Given the description of an element on the screen output the (x, y) to click on. 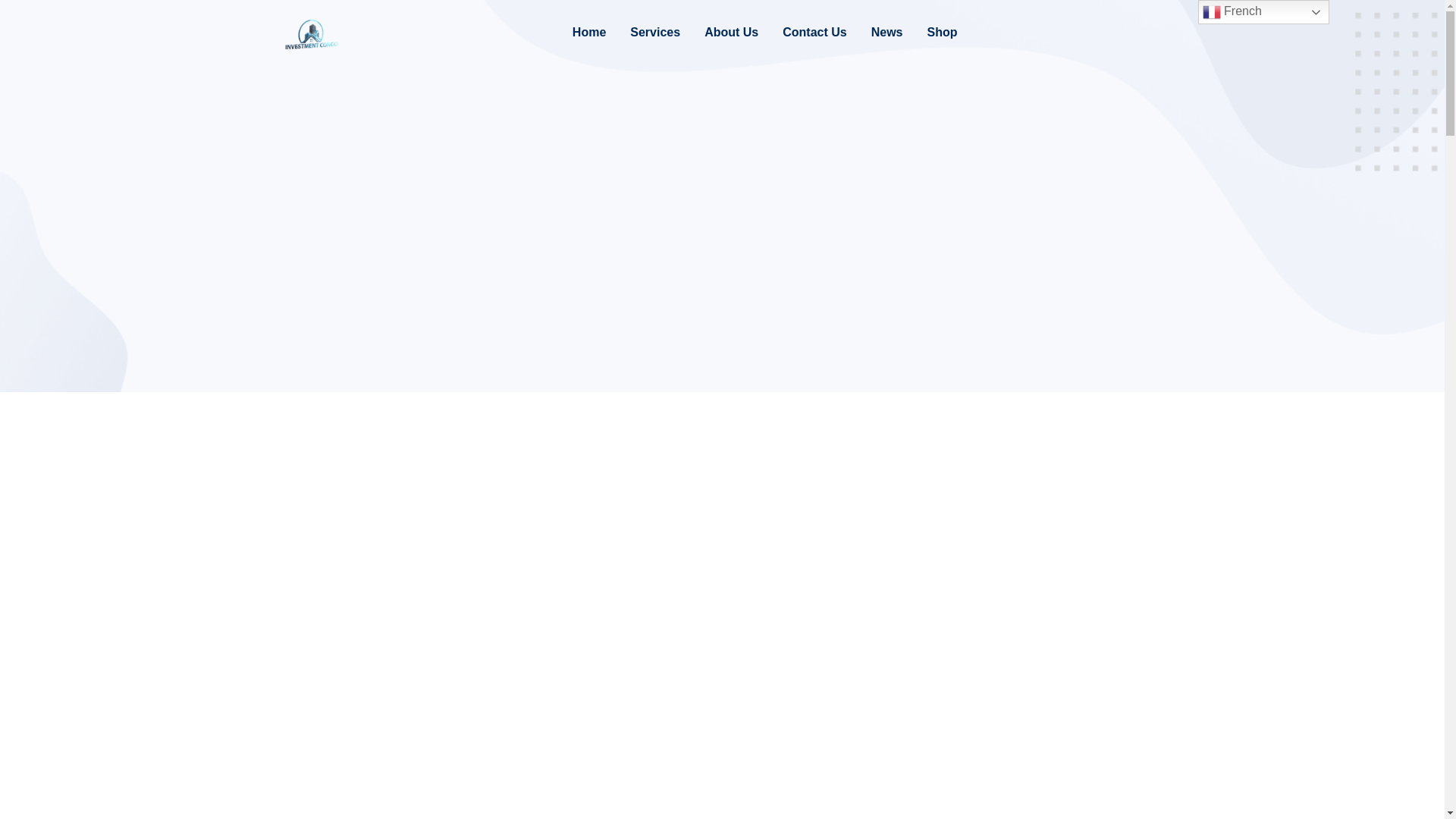
Services (654, 32)
About Us (731, 32)
Contact Us (814, 32)
